Given the description of an element on the screen output the (x, y) to click on. 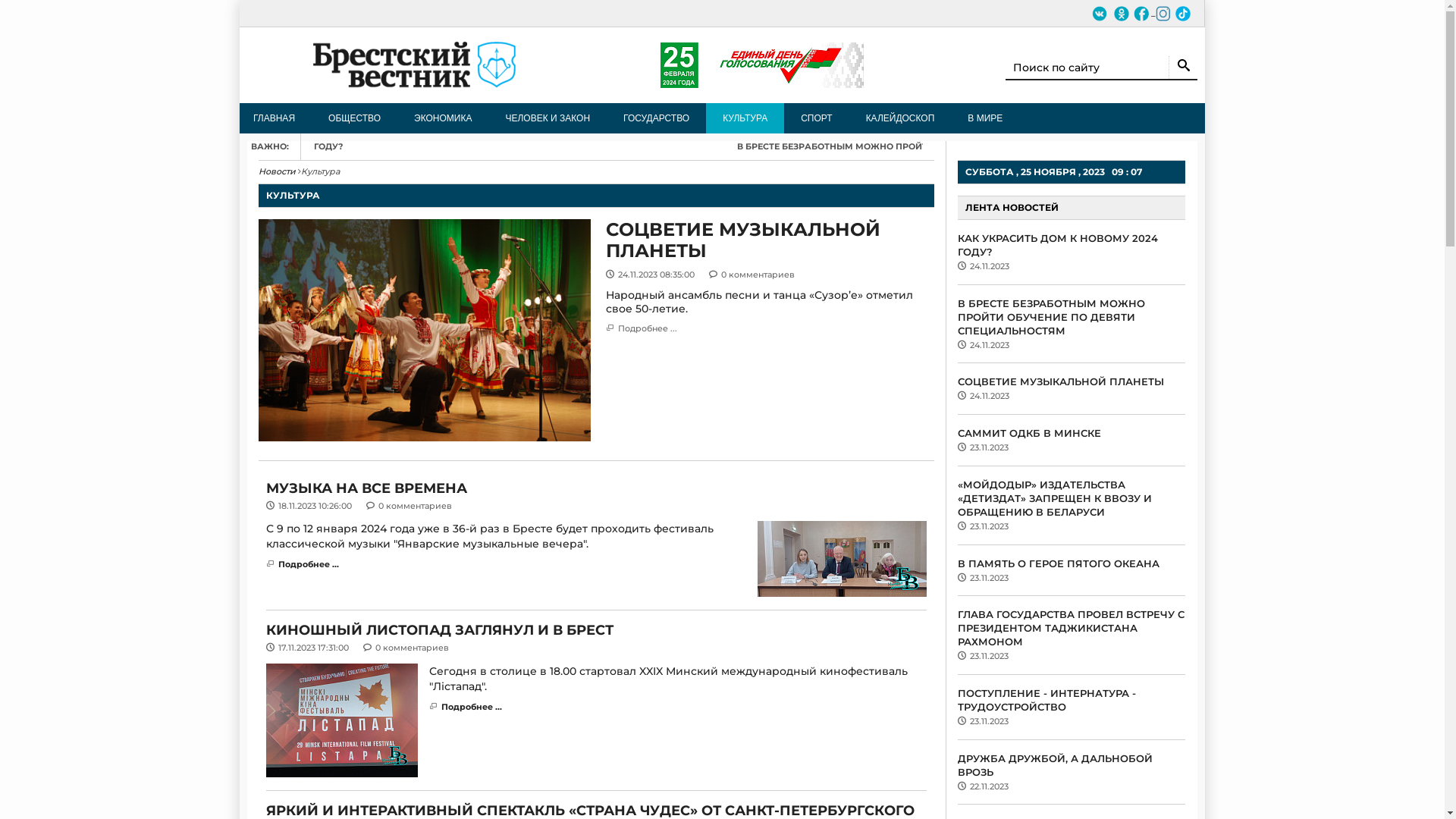
images__1_-removebg-preview.png Element type: hover (1182, 13)
insta Element type: hover (1162, 13)
  Element type: text (1108, 12)
